Given the description of an element on the screen output the (x, y) to click on. 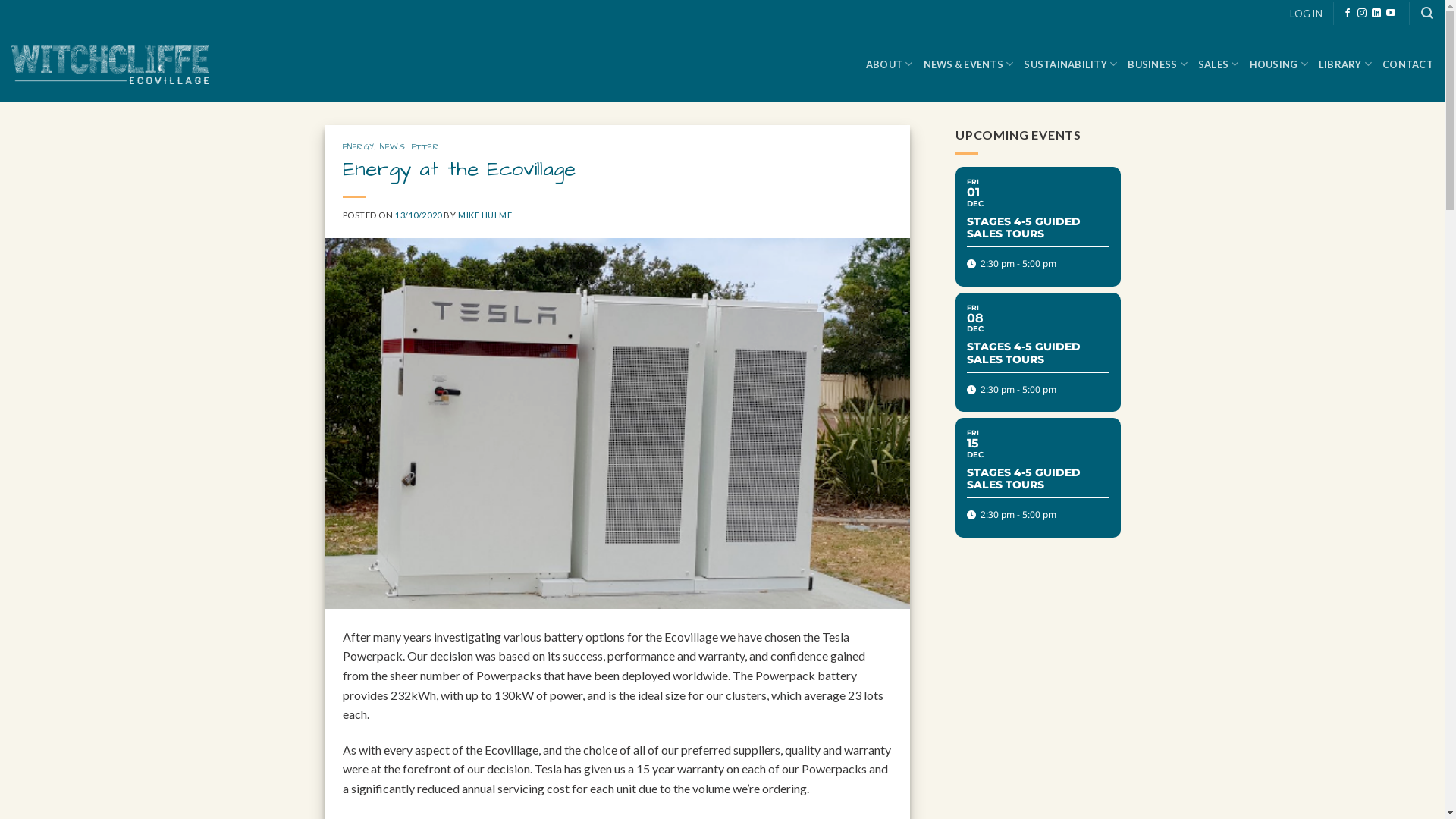
Energy at the Ecovillage 1 Element type: hover (617, 423)
ENERGY Element type: text (358, 147)
ABOUT Element type: text (889, 63)
LIBRARY Element type: text (1344, 63)
FRI
08
DEC
STAGES 4-5 GUIDED SALES TOURS
2:30 pm - 5:00 pm Element type: text (1037, 351)
FRI
15
DEC
STAGES 4-5 GUIDED SALES TOURS
2:30 pm - 5:00 pm Element type: text (1037, 476)
Witchcliffe Ecovillage - Vision of Sustainability Element type: hover (109, 64)
CONTACT Element type: text (1407, 64)
13/10/2020 Element type: text (418, 214)
SALES Element type: text (1218, 63)
SUSTAINABILITY Element type: text (1070, 63)
MIKE HULME Element type: text (485, 214)
BUSINESS Element type: text (1157, 63)
NEWSLETTER Element type: text (409, 147)
Follow on YouTube Element type: hover (1390, 13)
HOUSING Element type: text (1278, 63)
Follow on Facebook Element type: hover (1347, 13)
Follow on Instagram Element type: hover (1361, 13)
Follow on LinkedIn Element type: hover (1375, 13)
LOG IN Element type: text (1305, 12)
NEWS & EVENTS Element type: text (968, 63)
FRI
01
DEC
STAGES 4-5 GUIDED SALES TOURS
2:30 pm - 5:00 pm Element type: text (1037, 225)
